Given the description of an element on the screen output the (x, y) to click on. 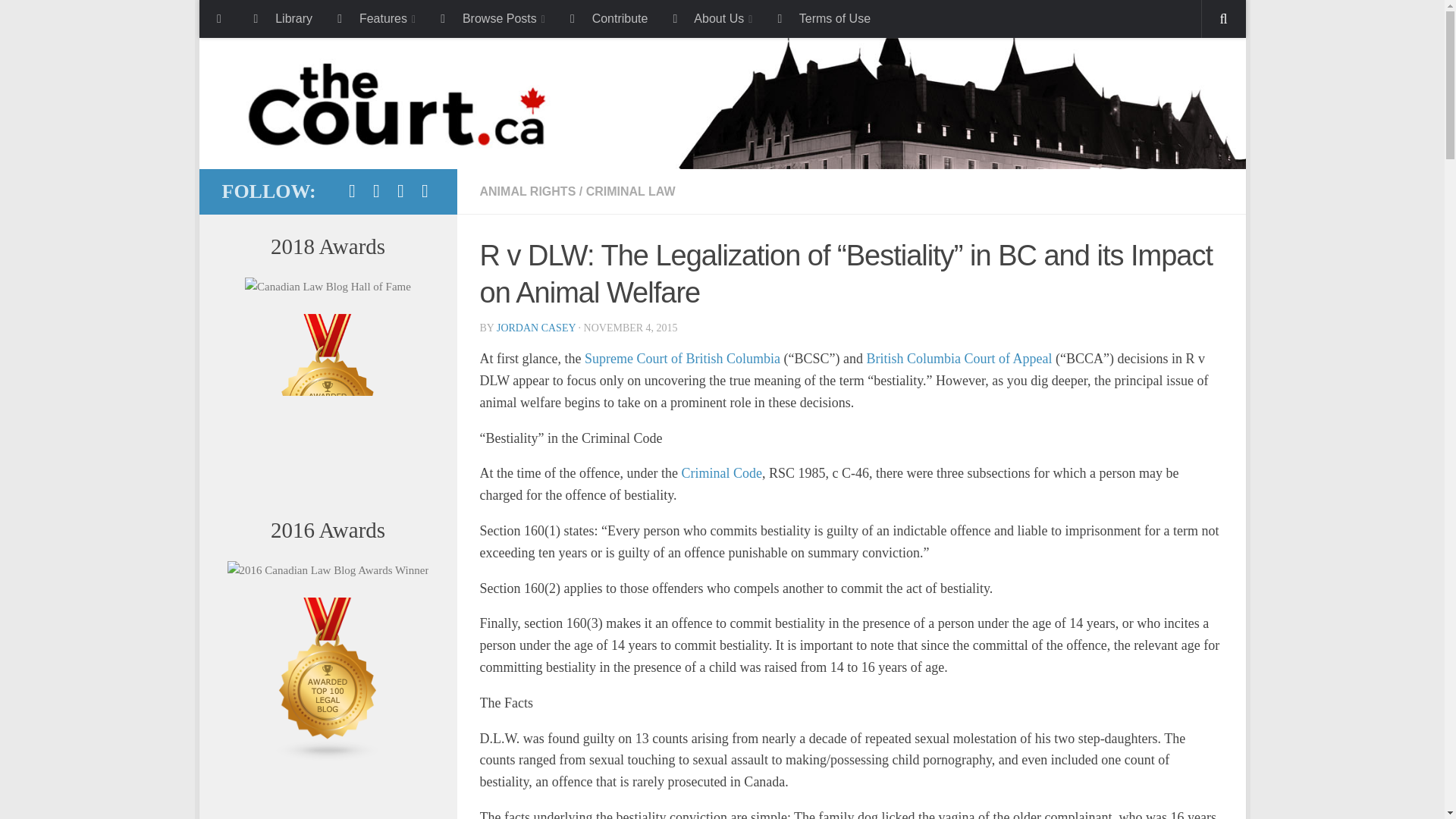
CRIMINAL LAW (630, 191)
Twitter (375, 190)
    Library (280, 18)
ANIMAL RIGHTS (527, 191)
Supreme Court of British Columbia (682, 358)
Canada Law Blogs (327, 472)
    Terms of Use (821, 18)
    Browse Posts (491, 18)
Facebook (351, 190)
Criminal Code (721, 473)
